Given the description of an element on the screen output the (x, y) to click on. 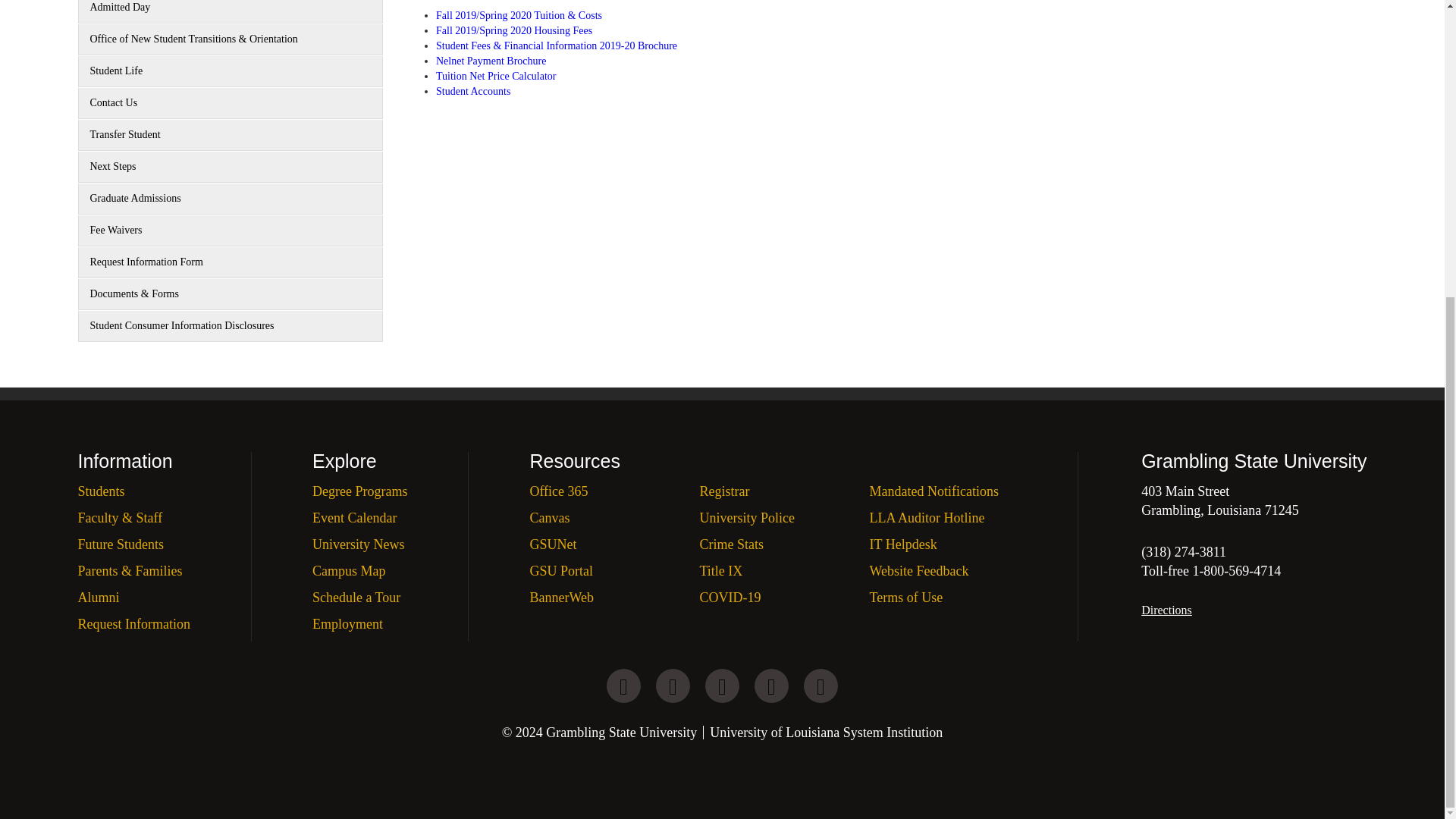
Facebook (721, 685)
Facebook (771, 685)
Facebook (820, 685)
Facebook (623, 685)
Facebook (673, 685)
